Given the description of an element on the screen output the (x, y) to click on. 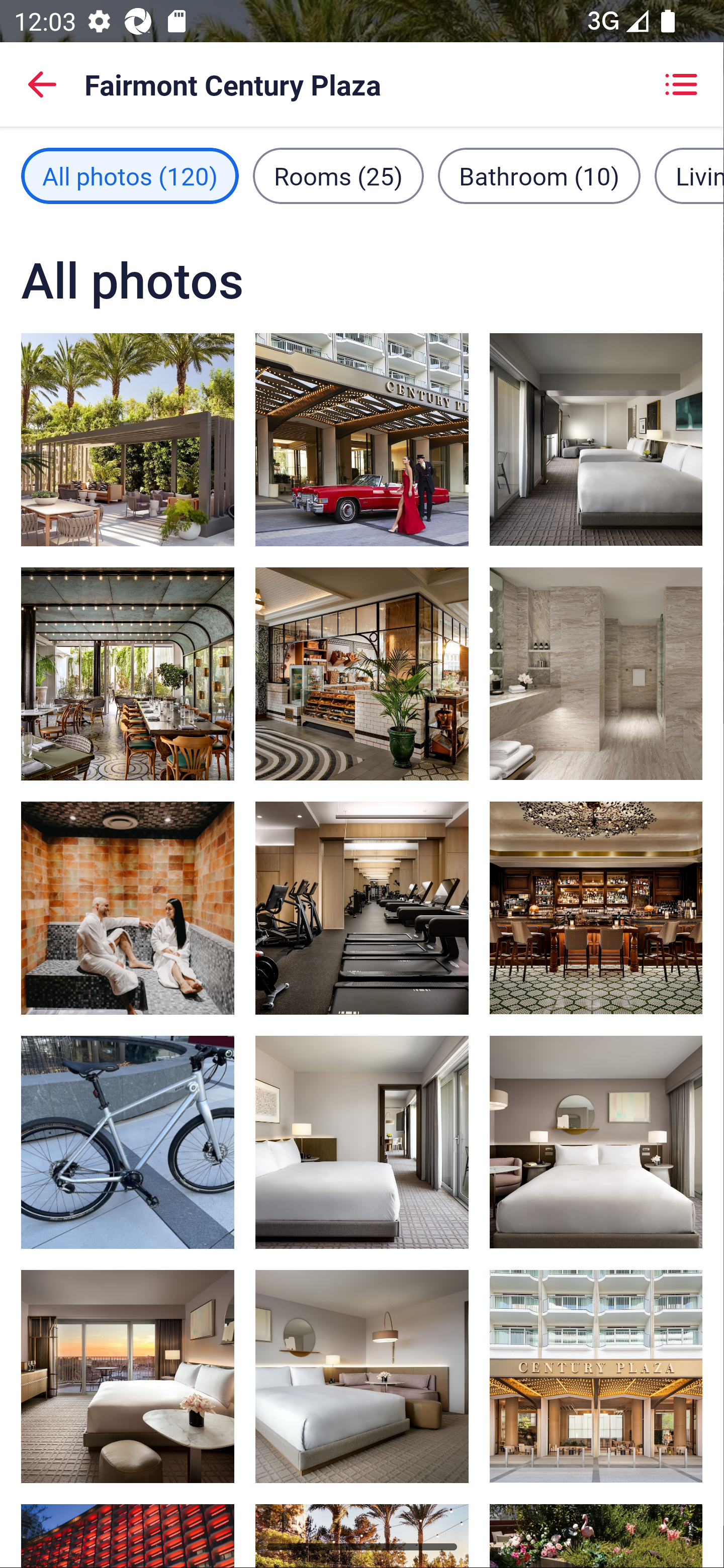
Back (42, 84)
Showing grid view (681, 84)
All photos filter, 120 images (129, 175)
Rooms filter, 25 images (337, 175)
Bathroom filter, 10 images (539, 175)
Living area filter, 6 images (688, 175)
Room amenity, image (127, 438)
Front of property, image (361, 438)
Fitness facility, image (361, 907)
Bicycling, image (127, 1142)
Exterior, image (595, 1376)
